Given the description of an element on the screen output the (x, y) to click on. 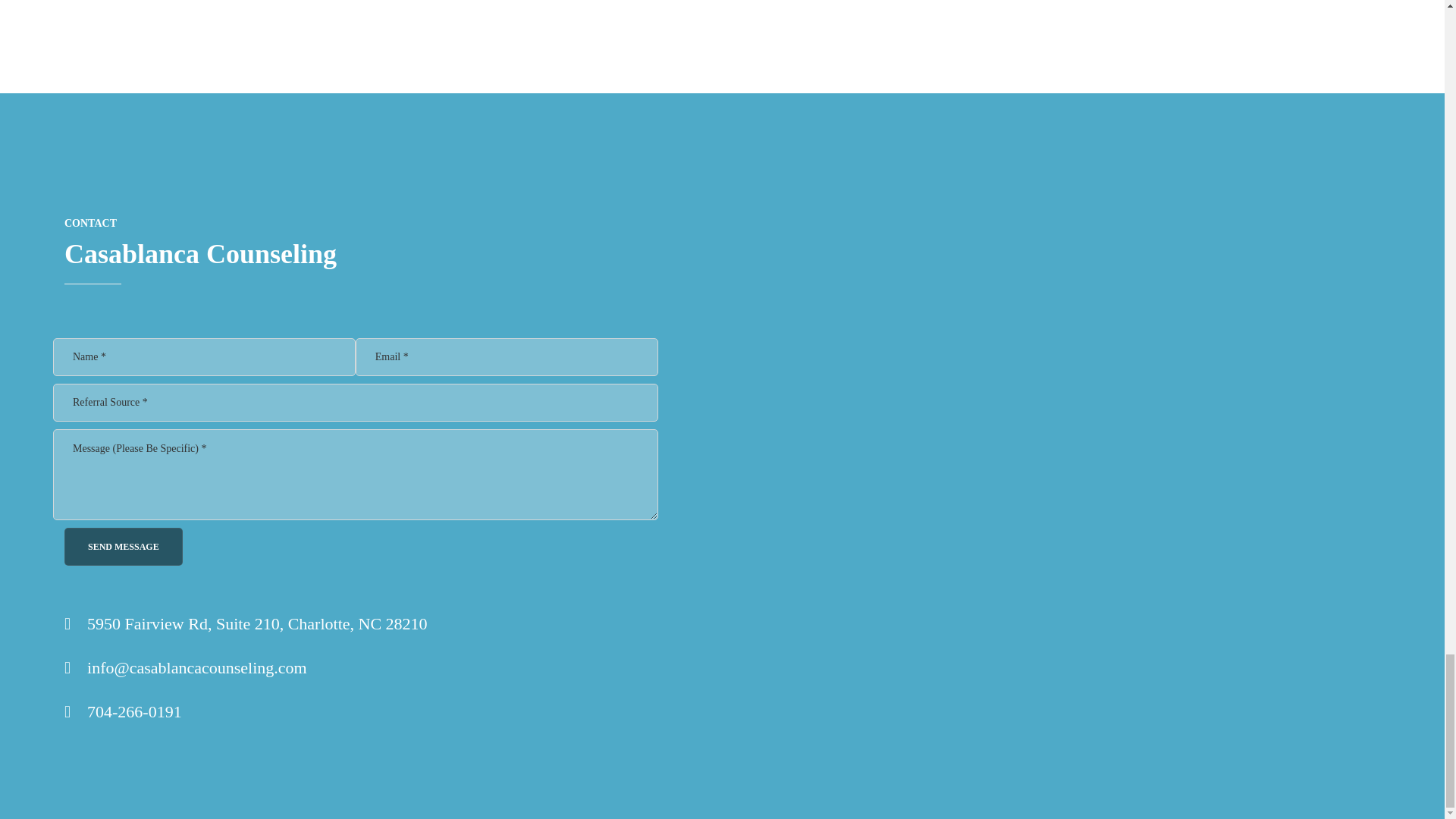
704-266-0191 (134, 711)
Send message (123, 546)
Send message (123, 546)
